Given the description of an element on the screen output the (x, y) to click on. 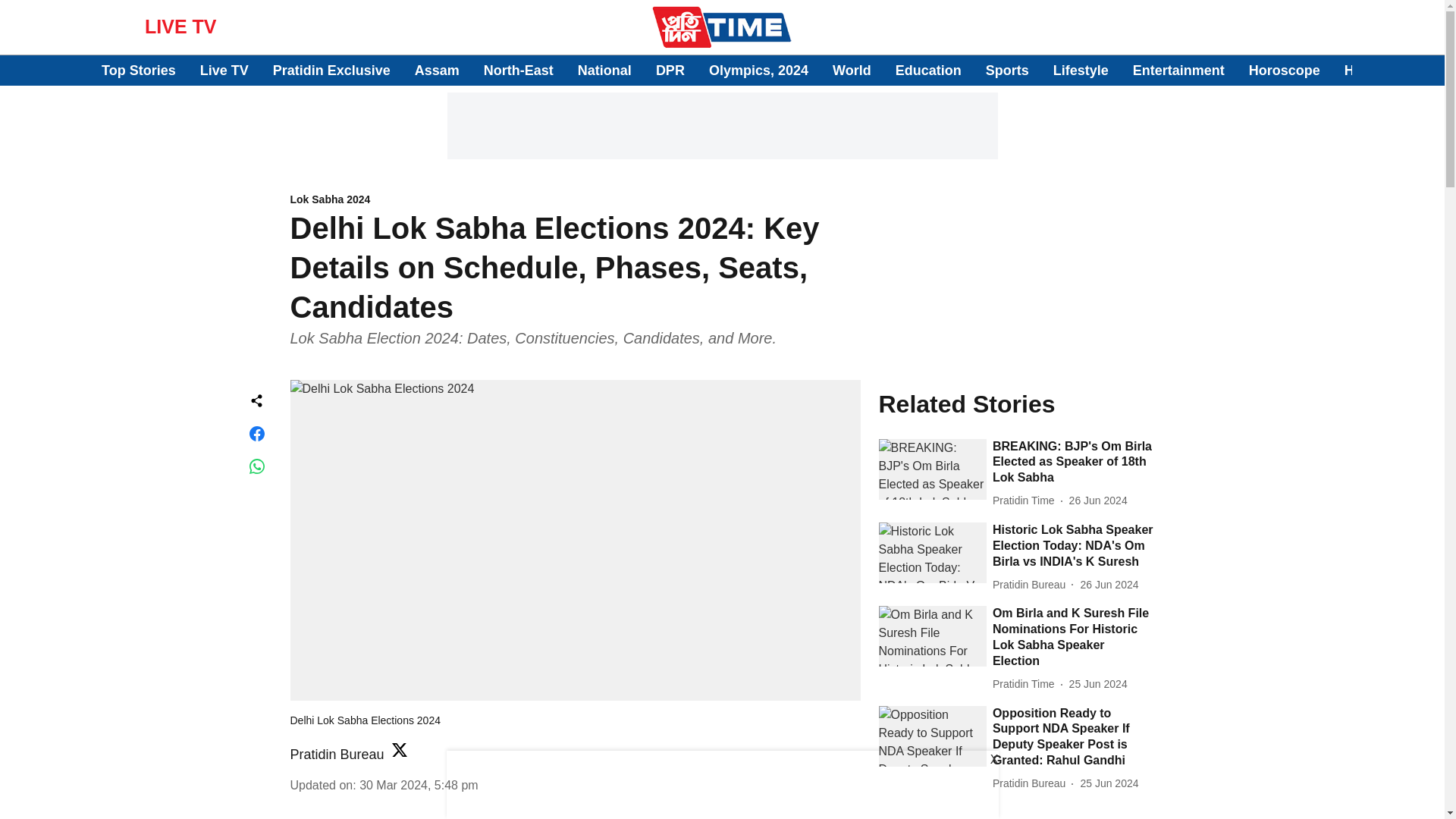
World (851, 70)
Lifestyle (1080, 70)
Health (1364, 70)
2024-06-25 07:30 (1097, 684)
Education (927, 70)
2024-03-30 09:48 (419, 784)
LIVE TV (179, 25)
Assam (437, 70)
Top Stories (138, 70)
North-East (518, 70)
National (604, 70)
Pratidin Bureau (336, 754)
2024-06-26 06:10 (1097, 500)
Pratidin Exclusive (331, 70)
2024-06-26 02:32 (1109, 584)
